Given the description of an element on the screen output the (x, y) to click on. 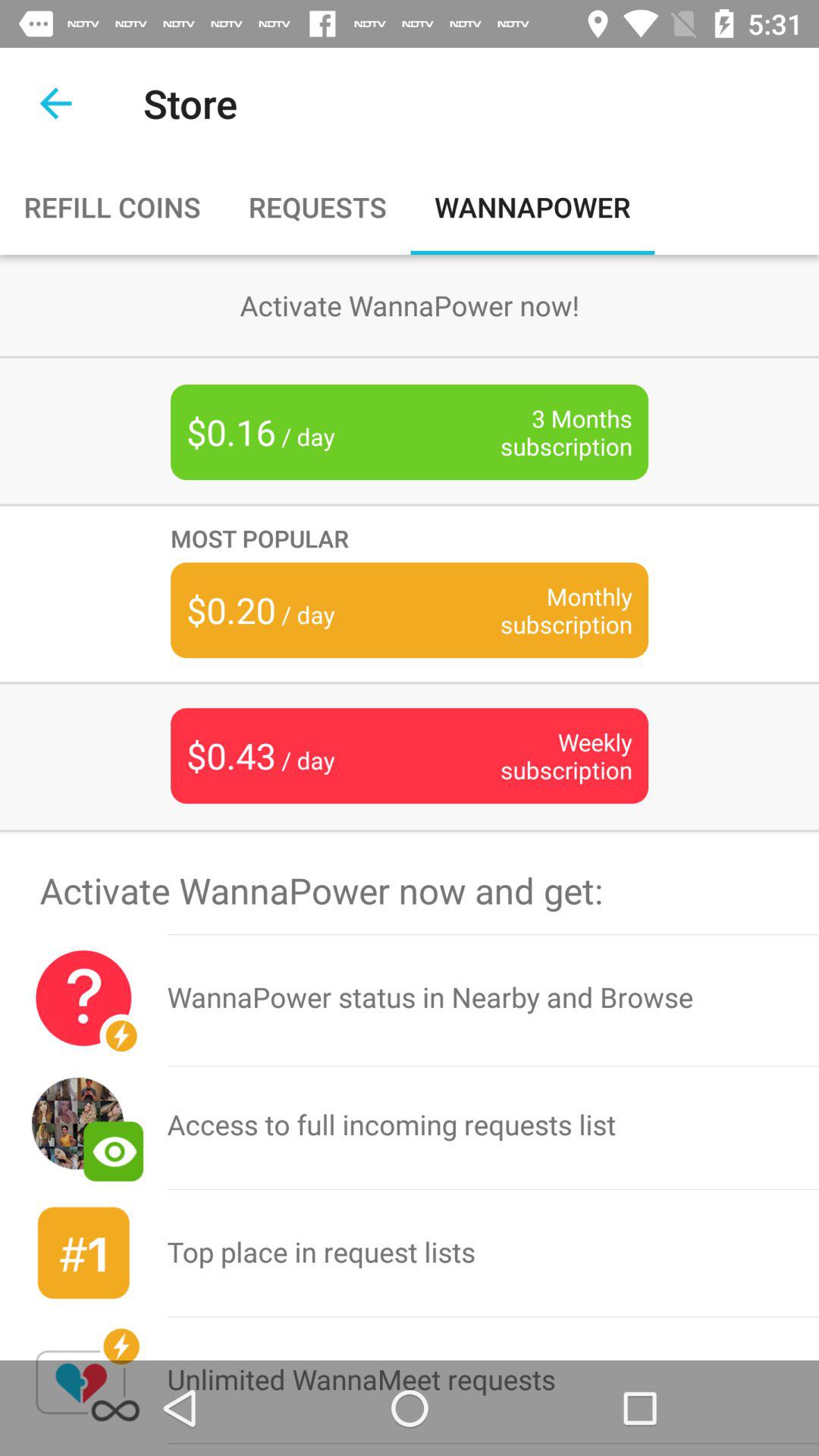
press the icon above the access to full icon (493, 997)
